Given the description of an element on the screen output the (x, y) to click on. 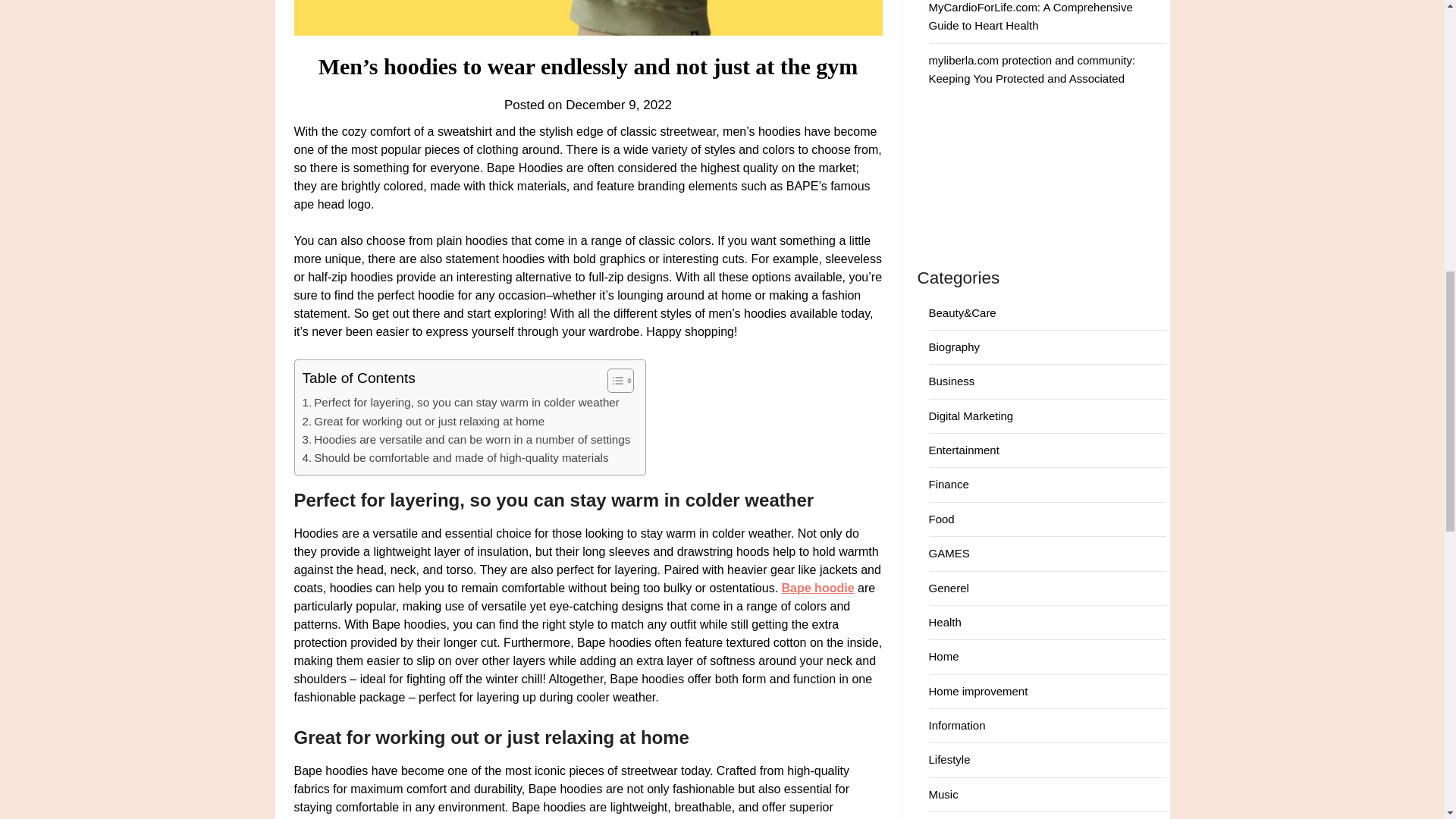
Perfect for layering, so you can stay warm in colder weather (459, 402)
Finance (948, 483)
GAMES (948, 553)
Digital Marketing (970, 415)
Health (944, 621)
MyCardioForLife.com: A Comprehensive Guide to Heart Health (1030, 15)
Generel (948, 587)
Food (940, 518)
